Given the description of an element on the screen output the (x, y) to click on. 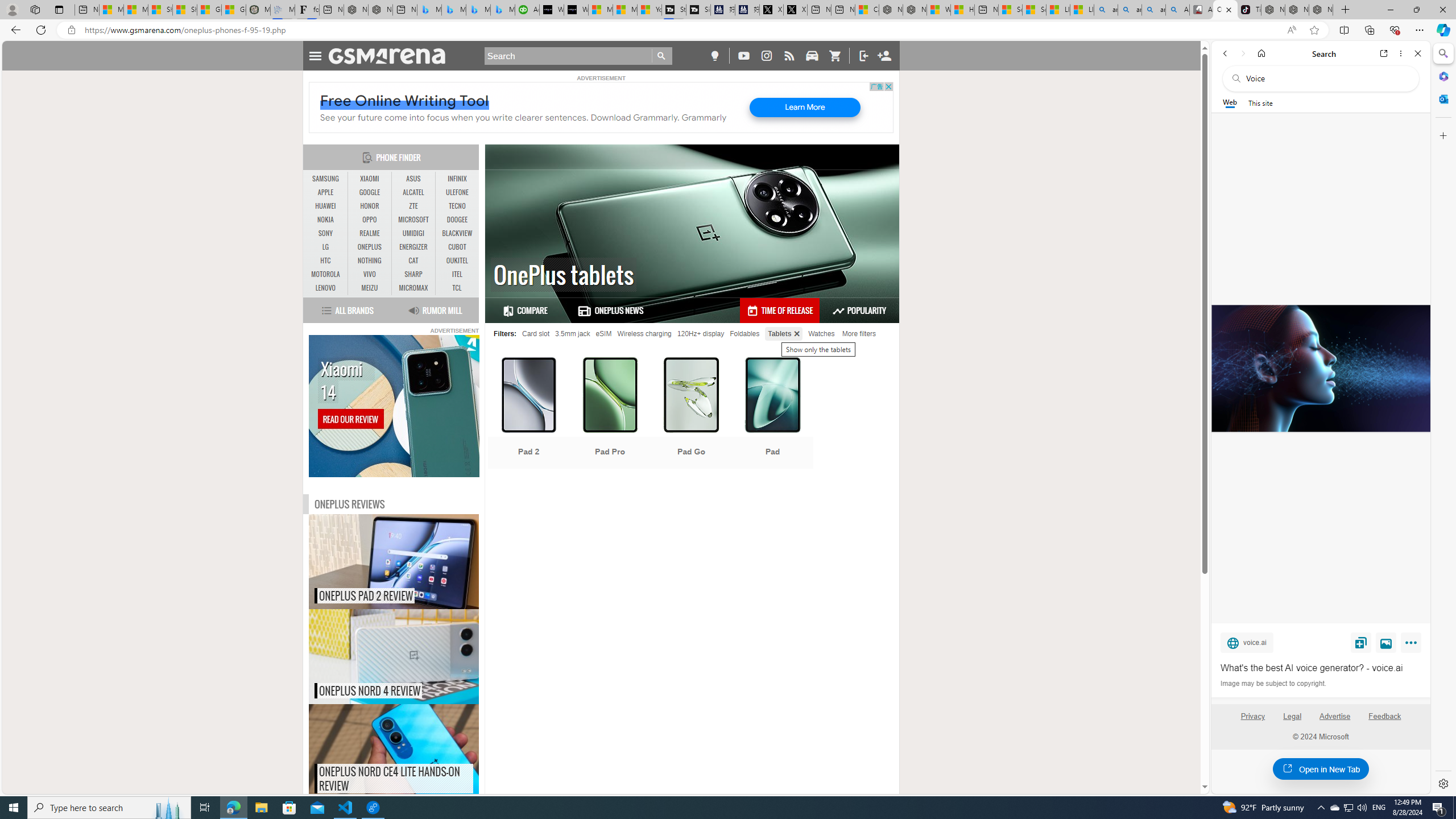
120Hz+ display (701, 333)
More filters (858, 333)
Foldables (744, 333)
SAMSUNG (325, 178)
